Given the description of an element on the screen output the (x, y) to click on. 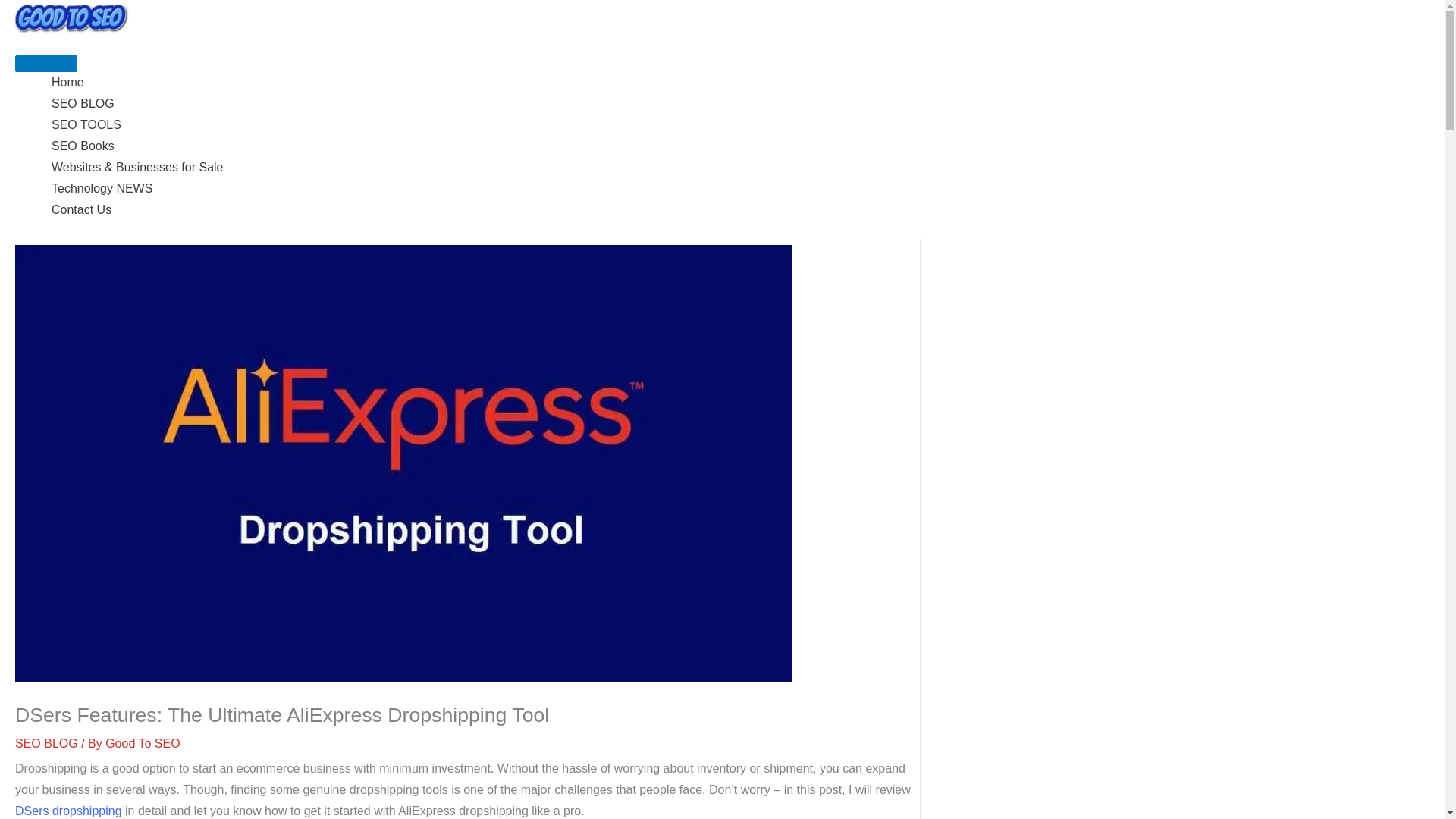
SEO BLOG (46, 743)
SEO BLOG (739, 103)
SEO Books (739, 146)
Home (739, 82)
Technology NEWS (739, 188)
View all posts by Good To SEO (141, 743)
DSers dropshipping (68, 810)
Good To SEO (141, 743)
Contact Us (739, 209)
SEO TOOLS (739, 124)
